Given the description of an element on the screen output the (x, y) to click on. 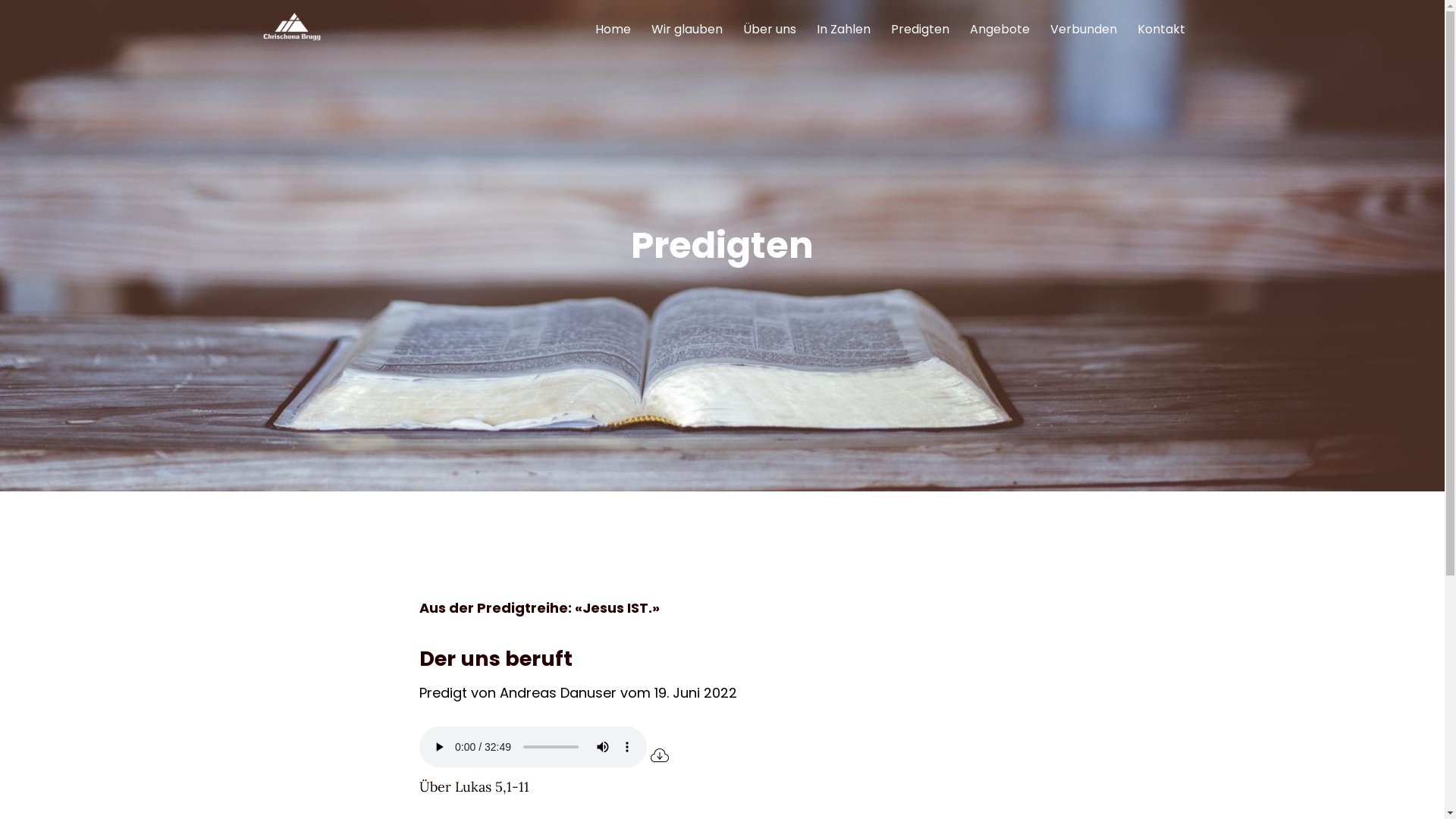
Verbunden Element type: text (1082, 28)
Wir glauben Element type: text (685, 28)
Predigten Element type: text (919, 28)
Angebote Element type: text (999, 28)
In Zahlen Element type: text (842, 28)
Home Element type: text (612, 28)
Kontakt Element type: text (1161, 28)
